Given the description of an element on the screen output the (x, y) to click on. 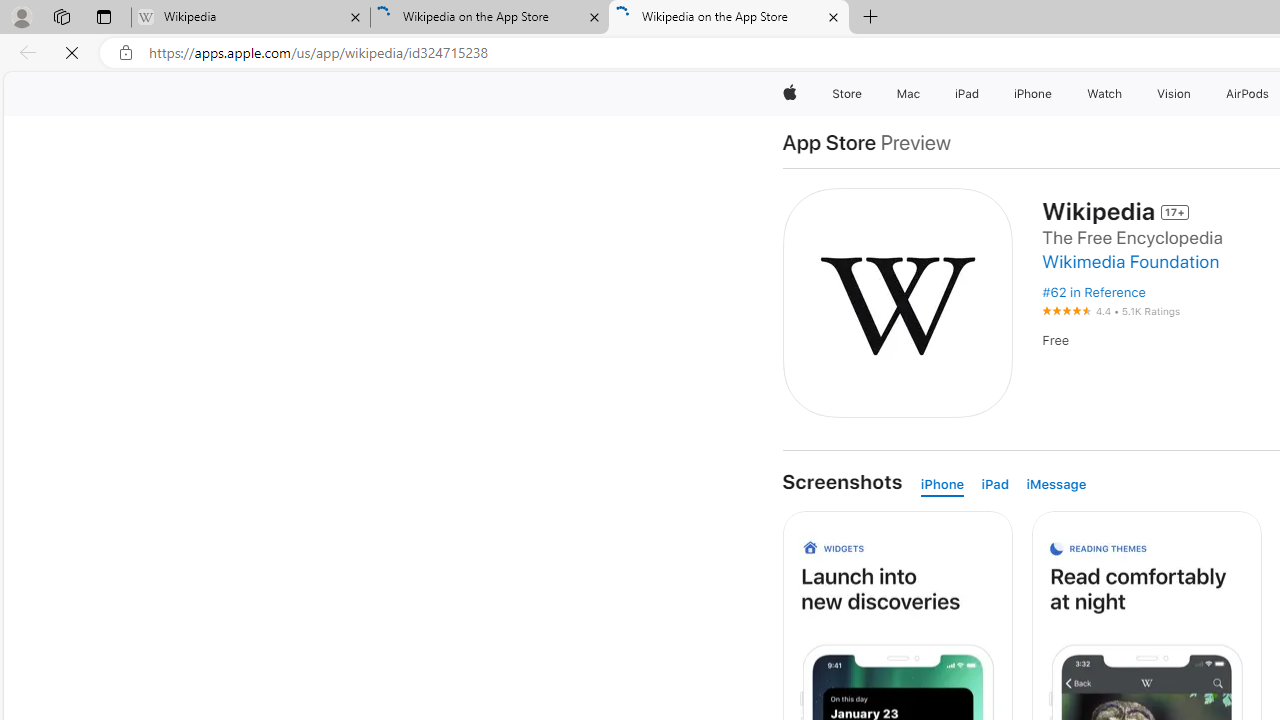
Free (1054, 340)
Apple (789, 93)
Apple (789, 93)
iPhone (946, 484)
AirPods (1247, 93)
Store (846, 93)
iPad (999, 484)
Wikimedia Foundation (1136, 261)
